Given the description of an element on the screen output the (x, y) to click on. 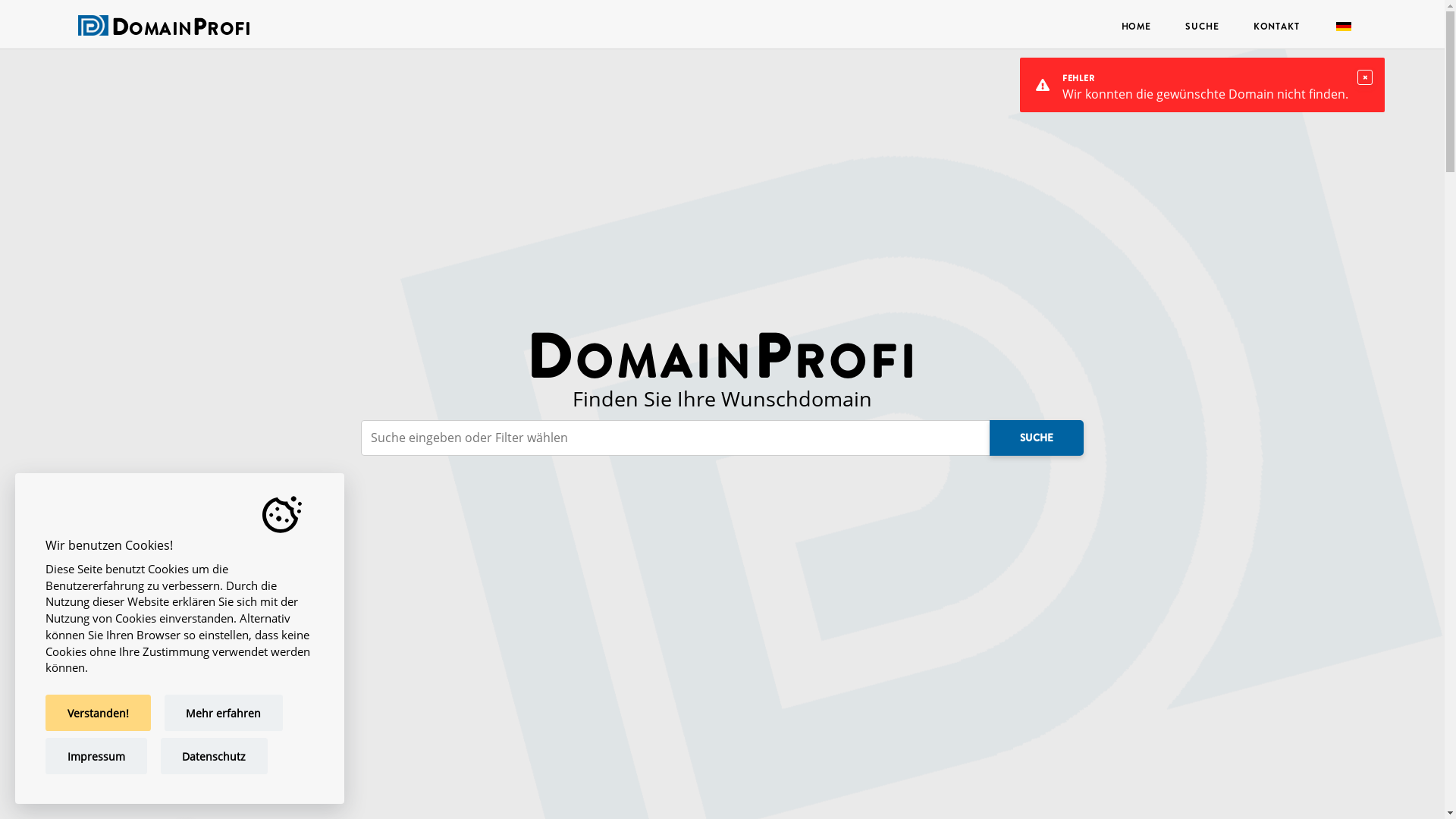
HOME Element type: text (1136, 25)
KONTAKT Element type: text (1276, 25)
SUCHE Element type: text (1202, 25)
Impressum Element type: text (96, 755)
Datenschutz Element type: text (214, 755)
SUCHE Element type: text (1036, 437)
DOMAINPROFI Element type: text (180, 29)
Verstanden! Element type: text (97, 712)
Mehr erfahren Element type: text (223, 712)
submit Element type: text (50, 17)
